Given the description of an element on the screen output the (x, y) to click on. 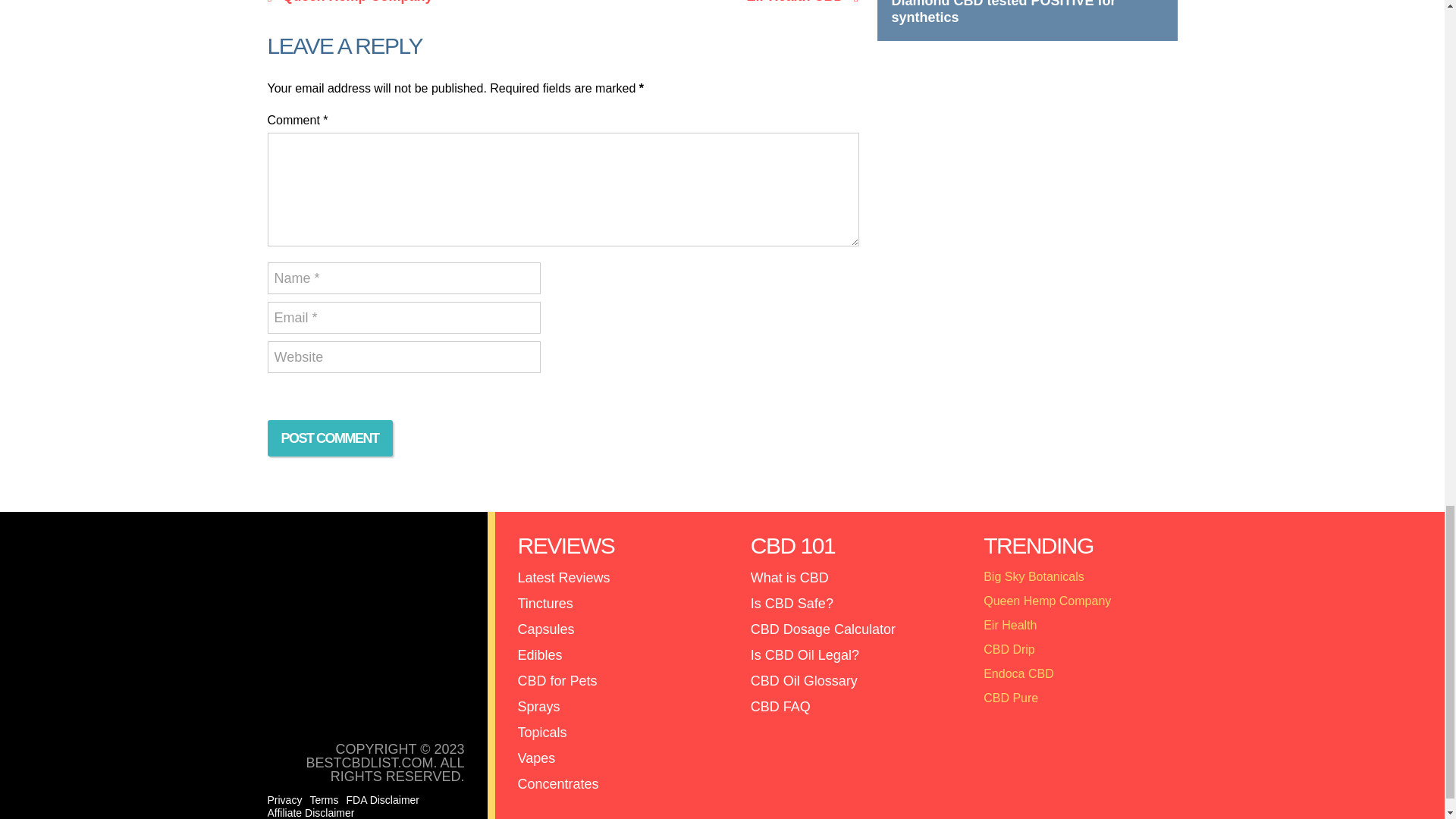
Queen Hemp Company (411, 2)
Post Comment (328, 438)
Eir Health CBD (714, 2)
